Given the description of an element on the screen output the (x, y) to click on. 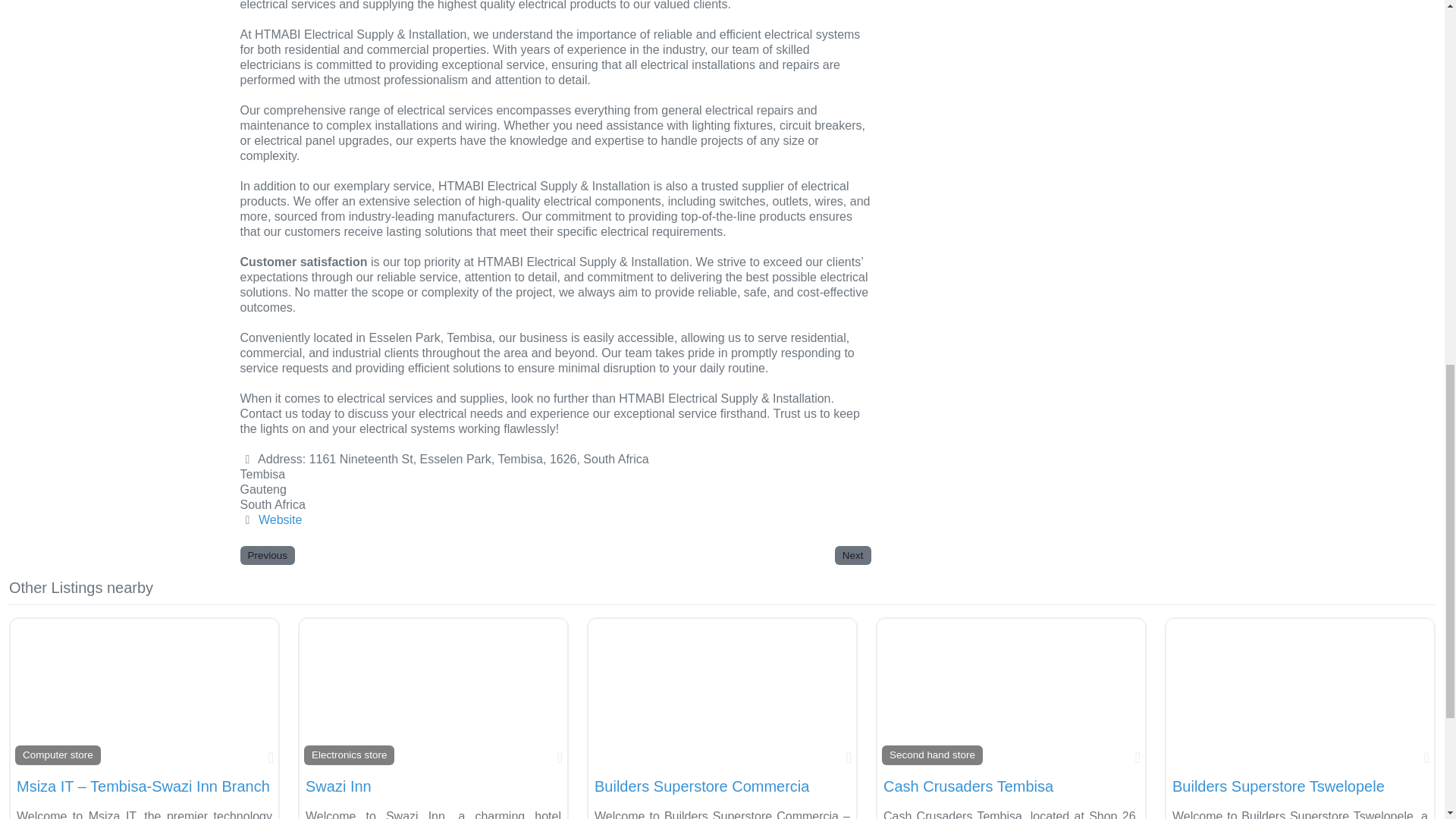
Electronics store (349, 754)
Next (852, 555)
Computer store (57, 754)
Website (280, 519)
Previous (267, 555)
Swazi Inn (338, 786)
